Given the description of an element on the screen output the (x, y) to click on. 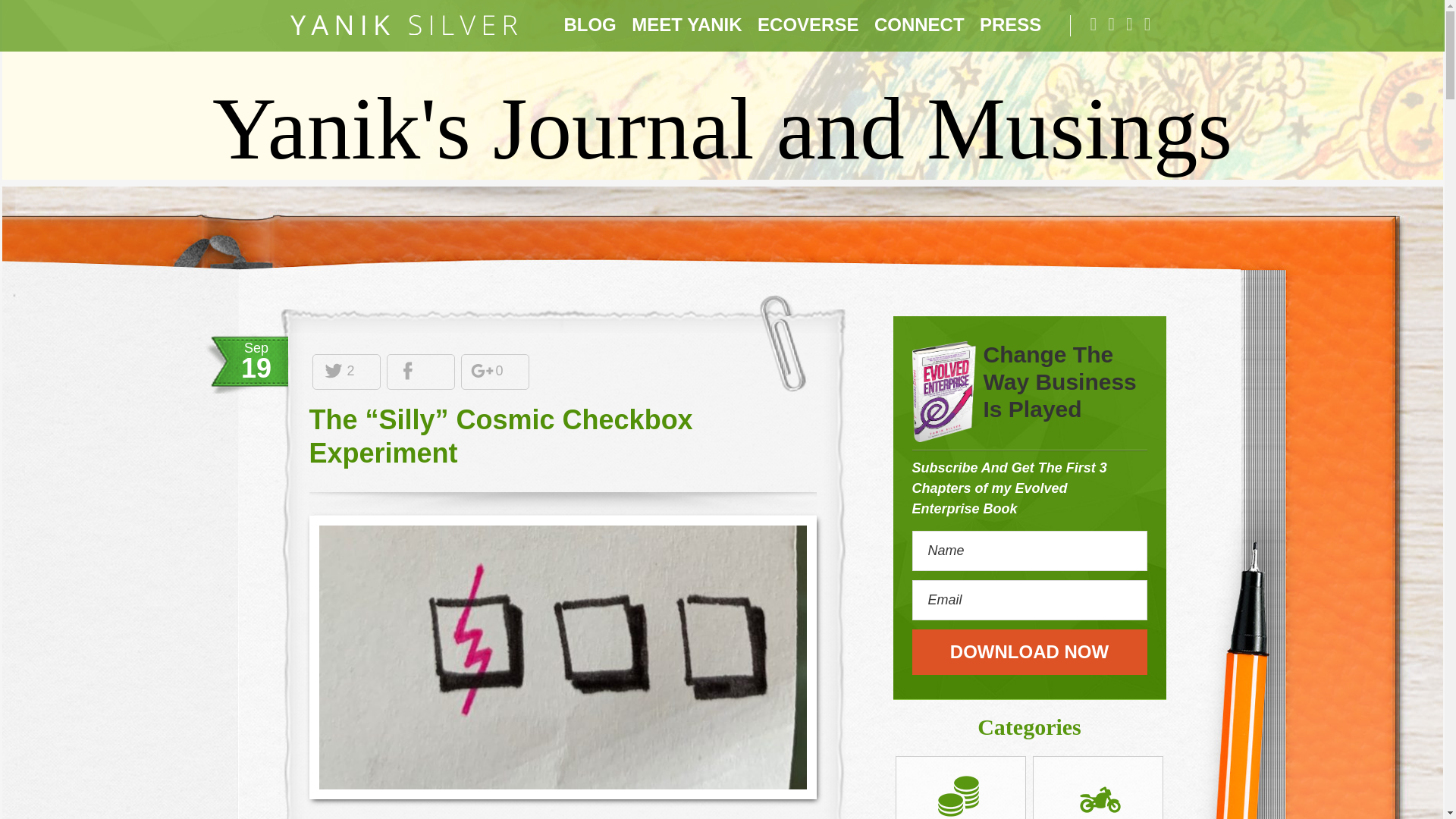
Download Now (1029, 651)
Download Now (1029, 651)
MEET YANIK (687, 25)
0 (486, 371)
Yanik Silver (402, 25)
ECOVERSE (807, 25)
PRESS (1010, 25)
Abundance (960, 794)
2 (337, 371)
BLOG (589, 25)
CONNECT (919, 25)
